Given the description of an element on the screen output the (x, y) to click on. 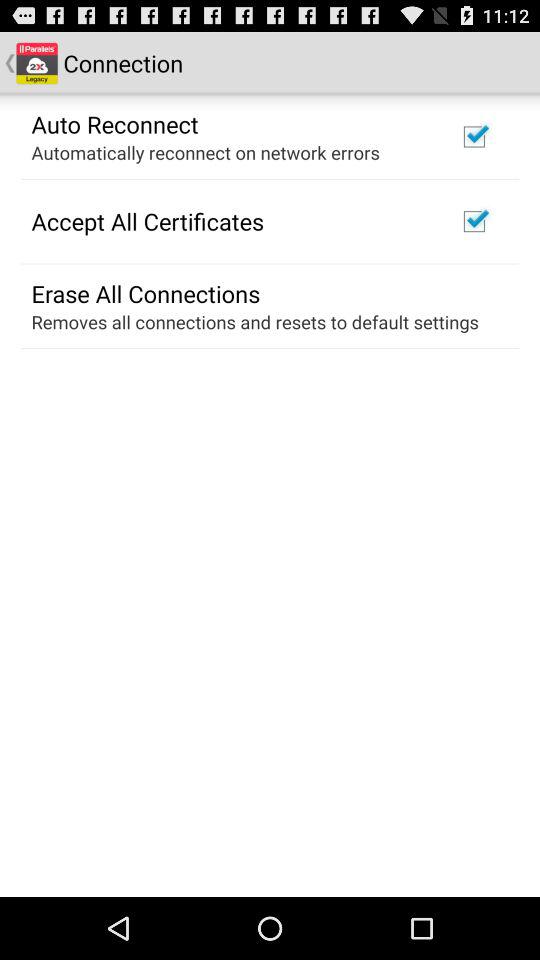
press the automatically reconnect on (205, 151)
